Given the description of an element on the screen output the (x, y) to click on. 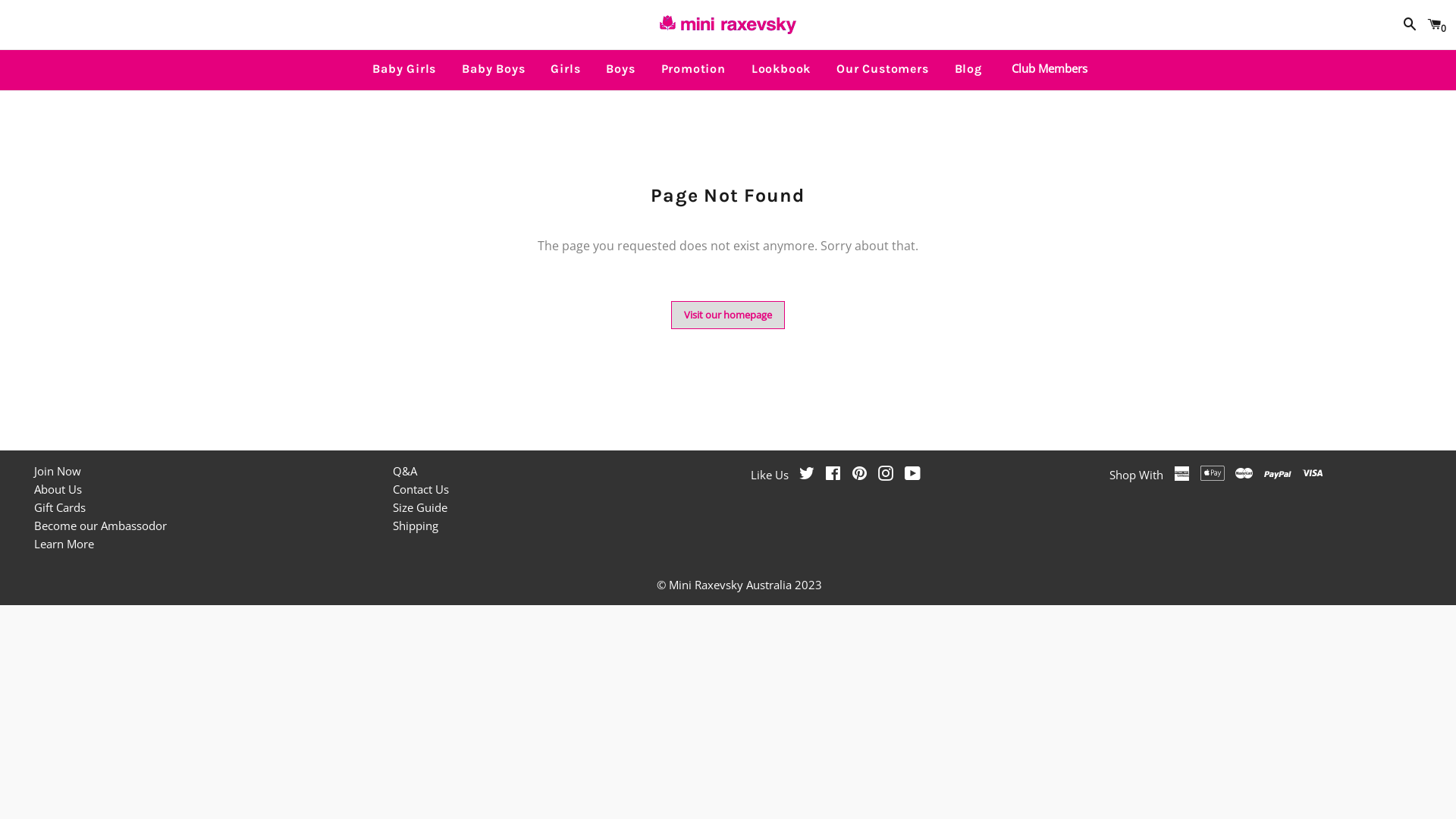
Baby Girls Element type: text (403, 68)
Become our Ambassodor Element type: text (100, 525)
Learn More Element type: text (64, 543)
Mini Raxevsky Australia 2023 Element type: text (745, 584)
Join Now Element type: text (57, 470)
0 Element type: text (1433, 24)
Pinterest Element type: text (859, 474)
Size Guide Element type: text (419, 506)
Visit our homepage Element type: text (727, 315)
Lookbook Element type: text (781, 68)
Contact Us Element type: text (420, 488)
Baby Boys Element type: text (493, 68)
Blog Element type: text (968, 68)
Boys Element type: text (620, 68)
Gift Cards Element type: text (59, 506)
Twitter Element type: text (806, 474)
Girls Element type: text (565, 68)
Q&A Element type: text (404, 470)
Club Members Element type: text (1045, 67)
Shipping Element type: text (415, 525)
Facebook Element type: text (832, 474)
Promotion Element type: text (693, 68)
YouTube Element type: text (911, 474)
Our Customers Element type: text (882, 68)
Instagram Element type: text (885, 474)
About Us Element type: text (57, 488)
